Given the description of an element on the screen output the (x, y) to click on. 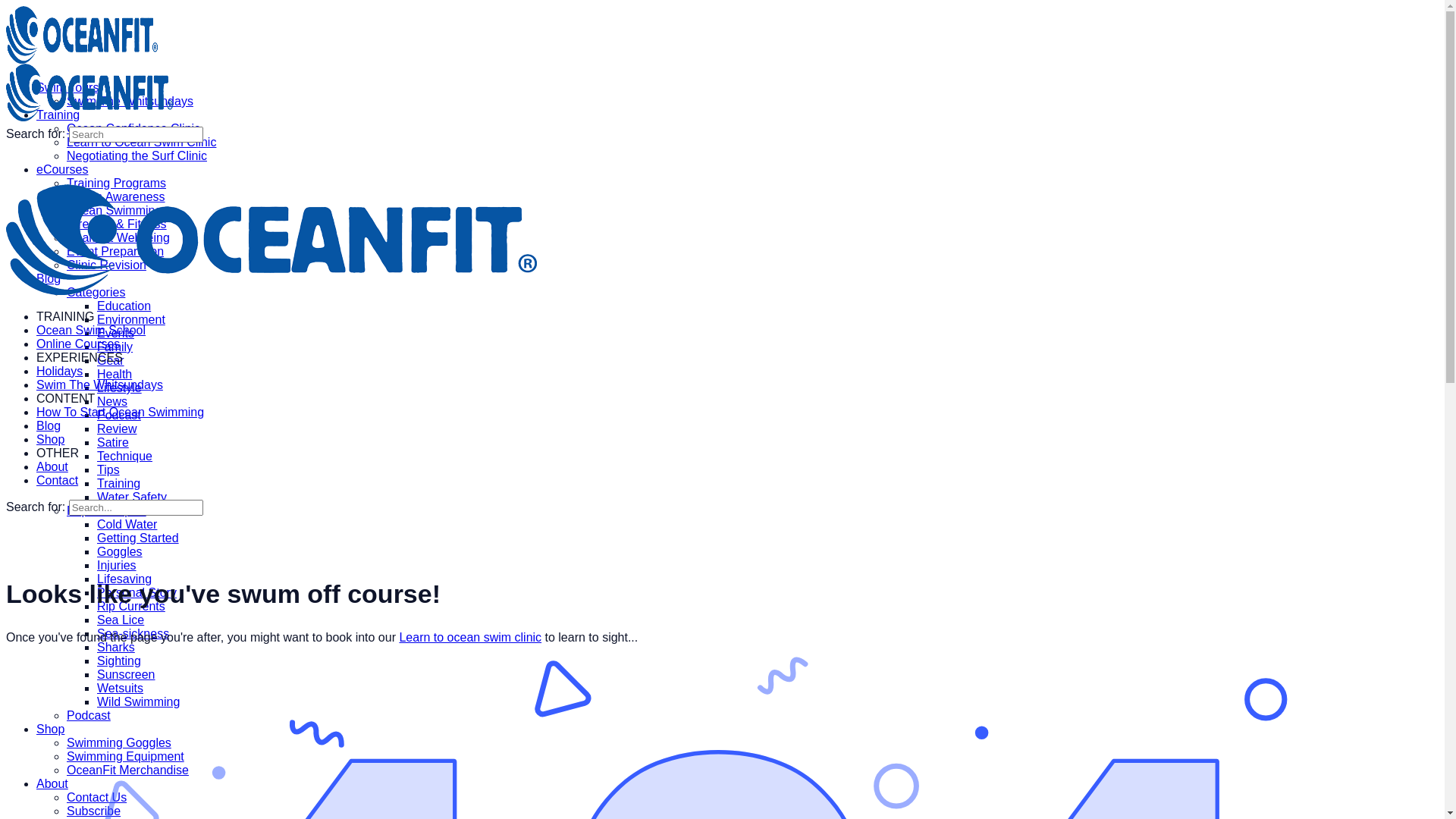
EXPERIENCES Element type: text (79, 357)
Negotiating the Surf Clinic Element type: text (136, 155)
Training Element type: text (57, 114)
Podcast Element type: text (88, 715)
Blog Element type: text (48, 278)
Water Safety Element type: text (131, 496)
Lifestyle Element type: text (119, 387)
Swimming Equipment Element type: text (125, 755)
About Element type: text (52, 783)
Online Courses Element type: text (77, 343)
Sea Lice Element type: text (120, 619)
Getting Started Element type: text (137, 537)
Personal Story Element type: text (136, 592)
Ocean Awareness Element type: text (115, 196)
Strength & Fitness Element type: text (116, 223)
Gear Element type: text (110, 360)
Popular Topics Element type: text (106, 510)
Review Element type: text (116, 428)
Events Element type: text (115, 332)
Ocean Swim School Element type: text (90, 329)
Goggles Element type: text (119, 551)
Clinic Revision Element type: text (106, 264)
Family Element type: text (114, 346)
Wild Swimming Element type: text (138, 701)
Education Element type: text (123, 305)
Sighting Element type: text (119, 660)
How To Start Ocean Swimming Element type: text (119, 411)
Swimming Goggles Element type: text (118, 742)
Health & Wellbeing Element type: text (117, 237)
Learn to ocean swim clinic Element type: text (469, 636)
Satire Element type: text (112, 442)
Training Programs Element type: text (116, 182)
News Element type: text (112, 401)
Training Element type: text (118, 482)
OceanFit Merchandise Element type: text (127, 769)
Learn to Ocean Swim Clinic Element type: text (141, 141)
Tips Element type: text (108, 469)
Sea-sickness Element type: text (133, 633)
Cold Water Element type: text (126, 523)
Health Element type: text (114, 373)
Rip Currents Element type: text (131, 605)
CONTENT Element type: text (65, 398)
Podcast Element type: text (119, 414)
eCourses Element type: text (61, 169)
Ocean Swimming Element type: text (113, 209)
Categories Element type: text (95, 291)
TRAINING Element type: text (65, 316)
Ocean Confidence Clinic Element type: text (133, 128)
Wetsuits Element type: text (120, 687)
Contact Us Element type: text (96, 796)
Sunscreen Element type: text (126, 674)
Holidays Element type: text (59, 370)
Blog Element type: text (48, 425)
Technique Element type: text (124, 455)
Subscribe Element type: text (93, 810)
Injuries Element type: text (116, 564)
Swim The Whitsundays Element type: text (129, 100)
Event Preparation Element type: text (114, 250)
About Element type: text (52, 466)
Shop Element type: text (50, 728)
Contact Element type: text (57, 479)
Sharks Element type: text (115, 646)
Environment Element type: text (131, 319)
Shop Element type: text (50, 439)
Swim Tours Element type: text (67, 87)
Lifesaving Element type: text (124, 578)
Swim The Whitsundays Element type: text (99, 384)
OTHER Element type: text (57, 452)
